Given the description of an element on the screen output the (x, y) to click on. 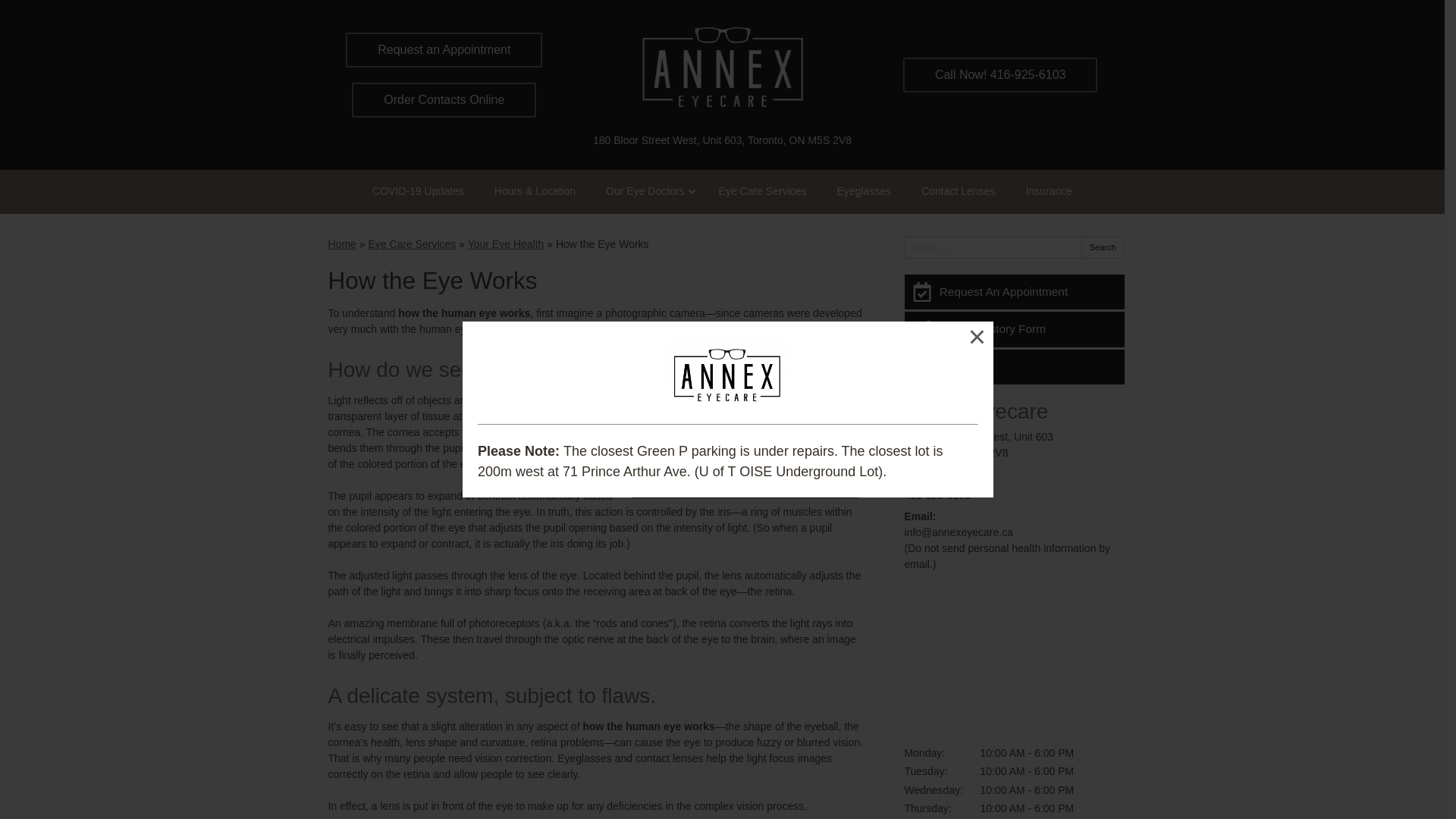
Eye Care Services Element type: text (411, 244)
Our Eye Doctors Element type: text (646, 191)
Order Contacts Online Element type: text (443, 99)
Request an Appointment Element type: text (443, 49)
Google map Element type: hover (1013, 658)
Search Element type: text (1102, 247)
Home Element type: text (341, 244)
180 Bloor Street West, Unit 603, Toronto, ON M5S 2V8 Element type: text (722, 140)
Call Now! 416-925-6103 Element type: text (1000, 74)
Hours & Location Element type: text (534, 191)
info@annexeyecare.ca Element type: text (957, 532)
Insurance Element type: text (1048, 191)
Eye Care Services Element type: text (762, 191)
Eyeglasses Element type: text (864, 191)
416-925-6103 Element type: text (936, 495)
Email Us Element type: text (1013, 366)
Annex Eyecare Element type: text (975, 411)
Patient History Form Element type: text (1013, 328)
Request An Appointment Element type: text (1013, 291)
Your Eye Health Element type: text (505, 244)
Contact Lenses Element type: text (958, 191)
COVID-19 Updates Element type: text (418, 191)
